Given the description of an element on the screen output the (x, y) to click on. 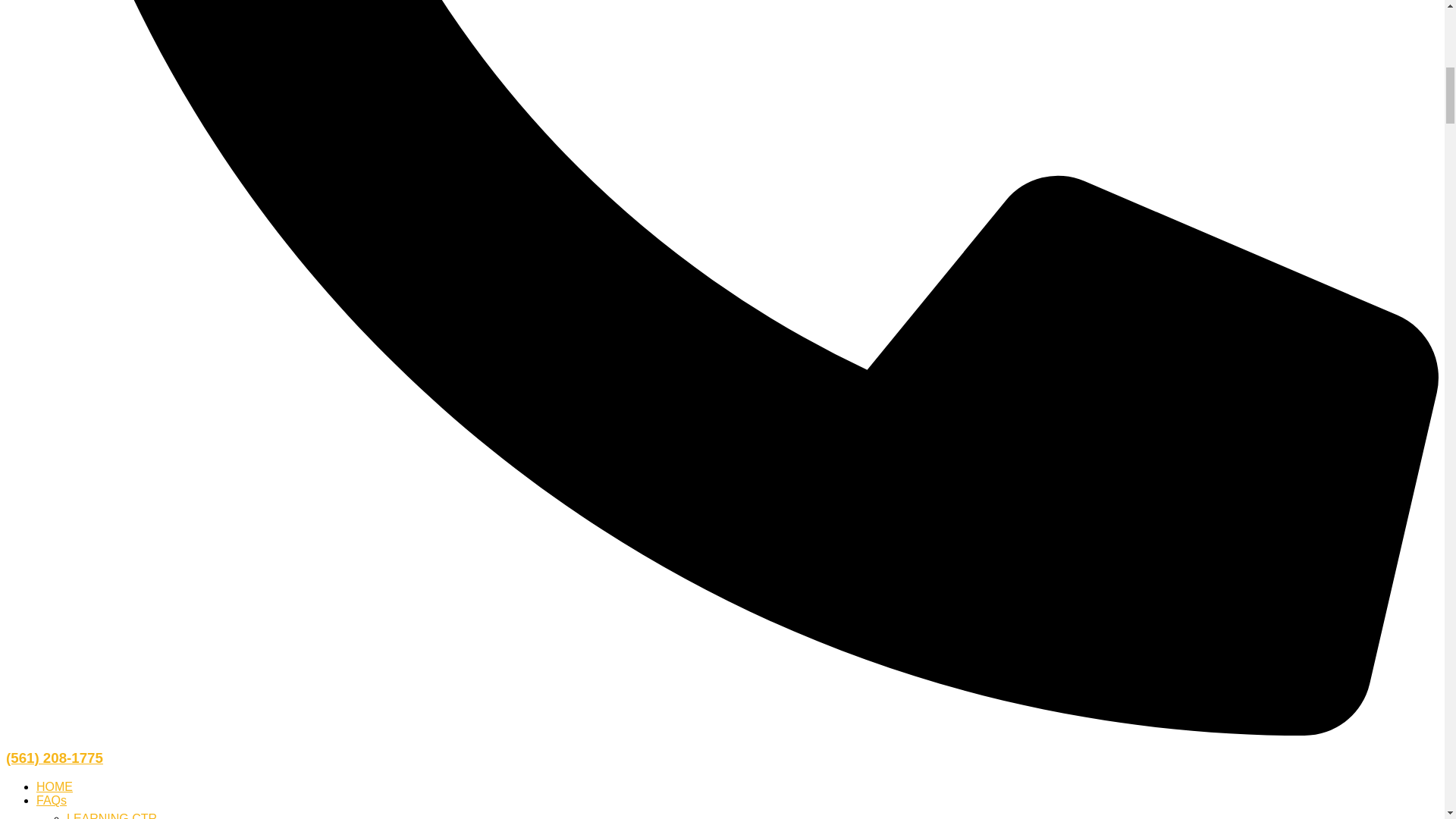
LEARNING CTR (111, 815)
FAQs (51, 799)
HOME (54, 786)
